Given the description of an element on the screen output the (x, y) to click on. 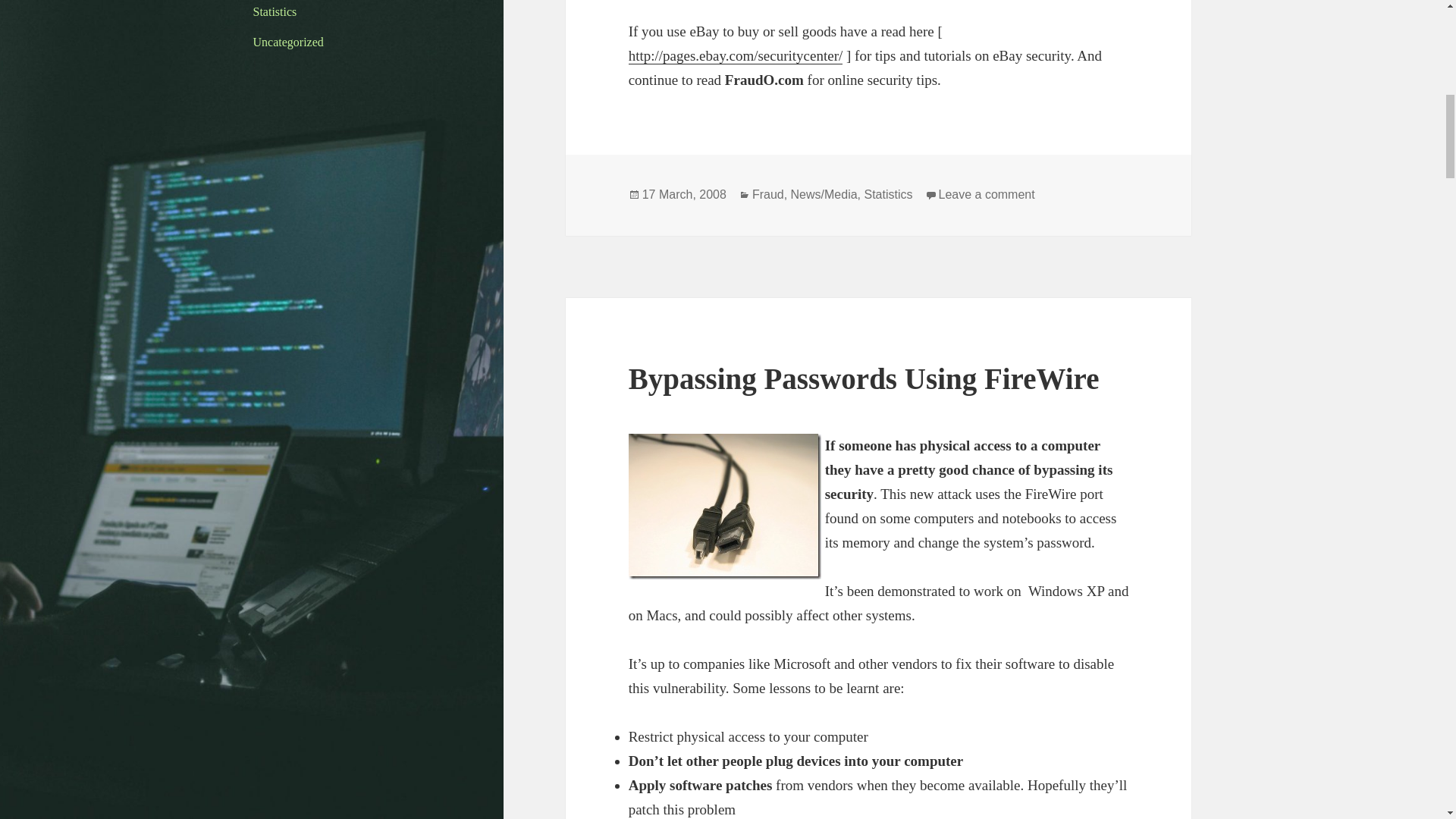
Uncategorized (288, 42)
Statistics (887, 194)
Fraud (768, 194)
Statistics (275, 11)
Bypassing Passwords Using FireWire (863, 378)
Stay Safe on eBay (735, 55)
17 March, 2008 (684, 194)
